Given the description of an element on the screen output the (x, y) to click on. 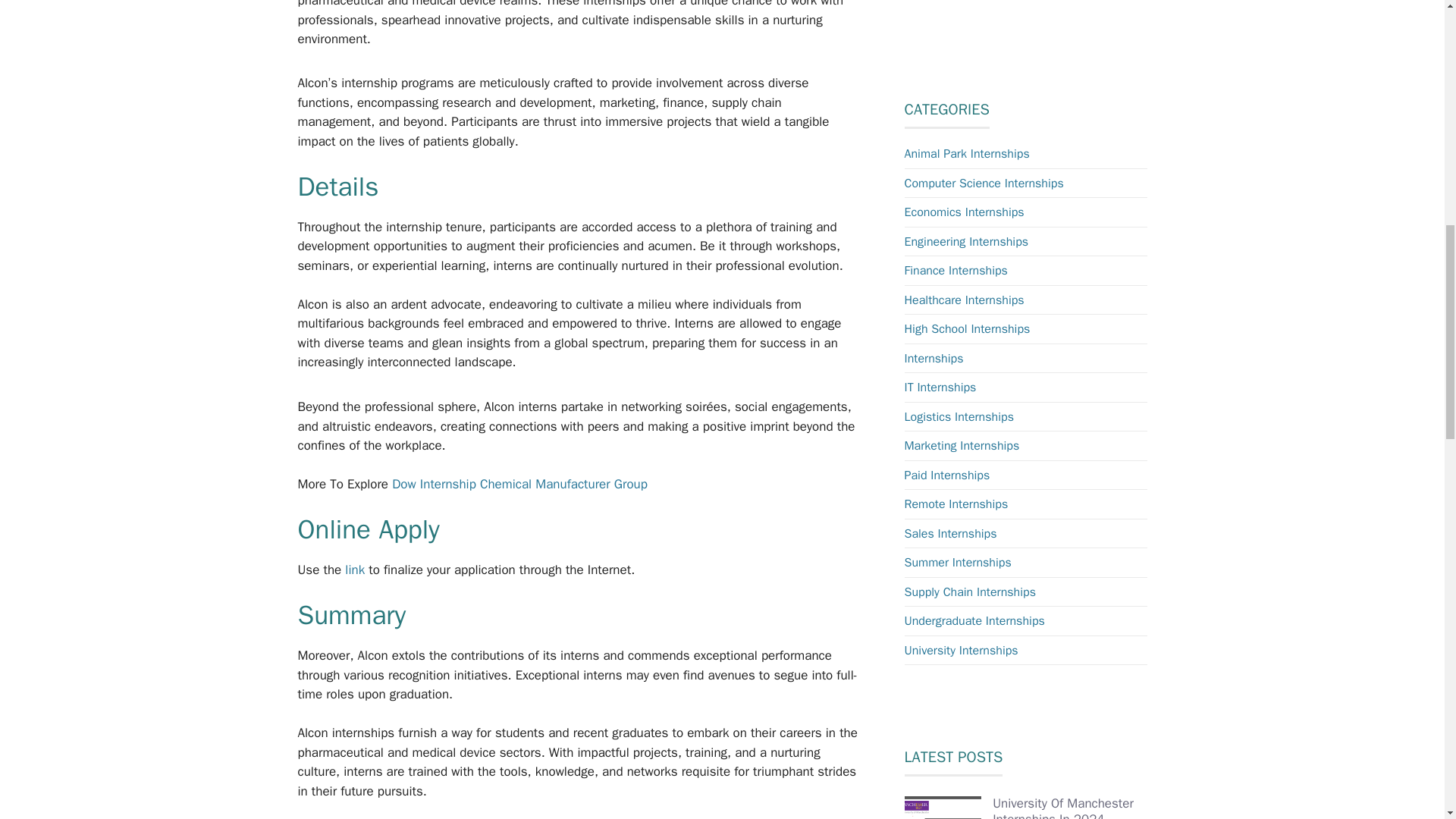
Sales Internships (949, 533)
Economics Internships (963, 212)
Dow Internship Chemical Manufacturer Group (519, 483)
Supply Chain Internships (969, 591)
High School Internships (966, 328)
Finance Internships (955, 270)
Undergraduate Internships (973, 620)
Summer Internships (957, 562)
Remote Internships (955, 503)
Logistics Internships (958, 417)
IT Internships (939, 387)
link  (356, 569)
Advertisement (1036, 27)
Engineering Internships (965, 241)
Animal Park Internships (966, 153)
